Given the description of an element on the screen output the (x, y) to click on. 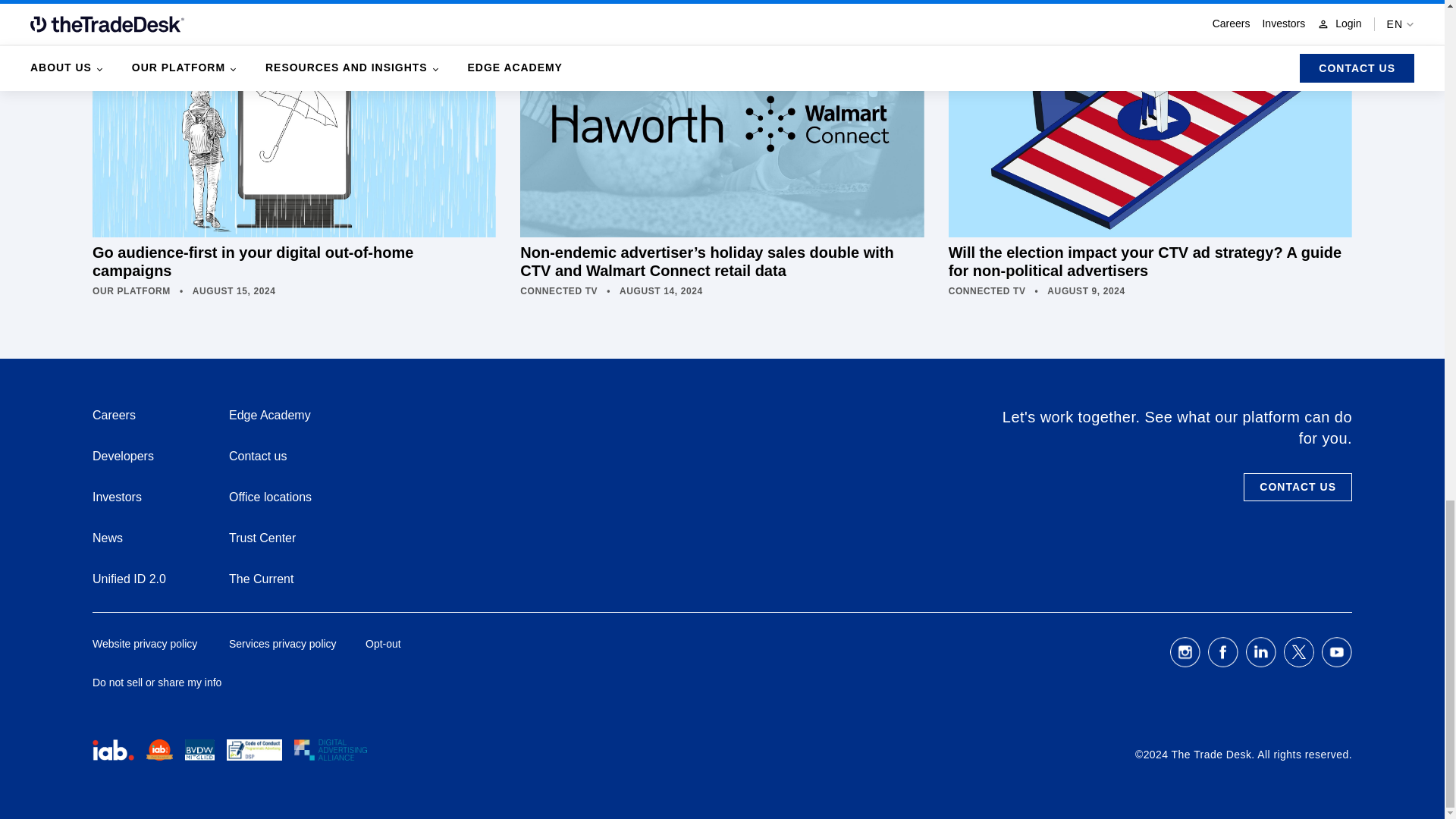
CONTACT US (1297, 487)
Go audience-first in your digital out-of-home campaigns (294, 145)
